Given the description of an element on the screen output the (x, y) to click on. 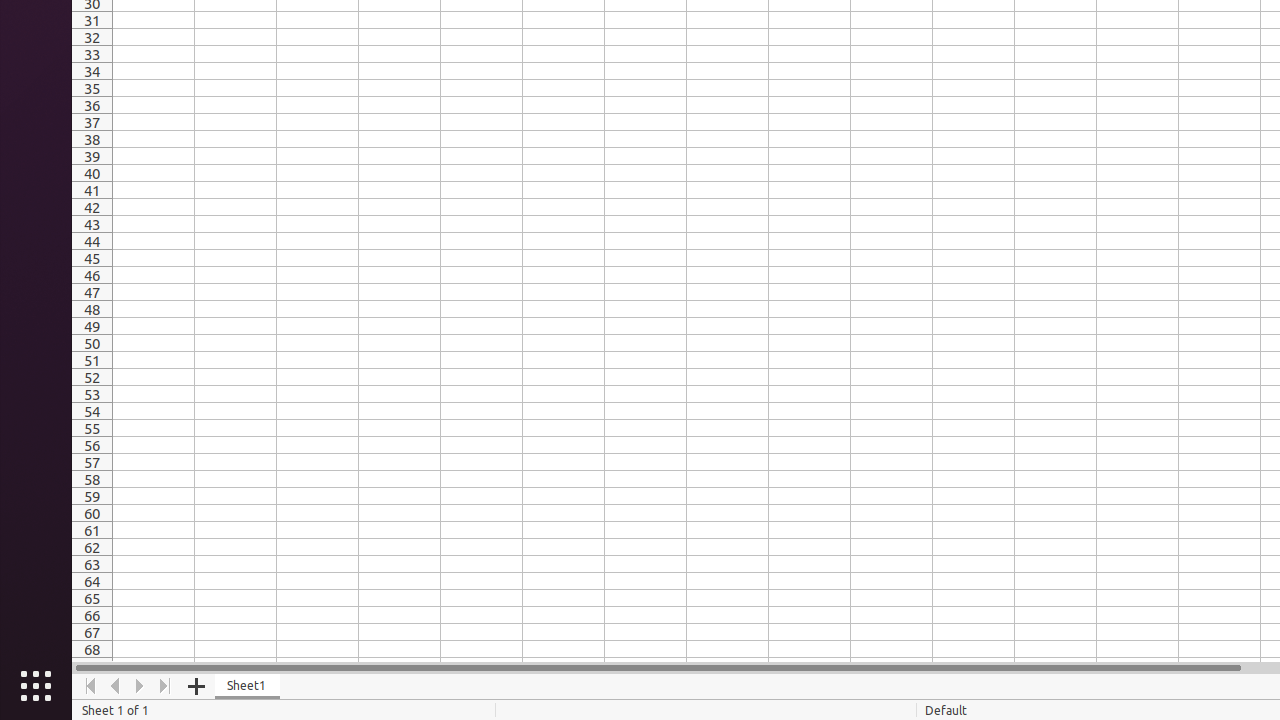
Move Left Element type: push-button (115, 686)
Move To End Element type: push-button (165, 686)
Move Right Element type: push-button (140, 686)
Sheet1 Element type: page-tab (247, 686)
Move To Home Element type: push-button (90, 686)
